Given the description of an element on the screen output the (x, y) to click on. 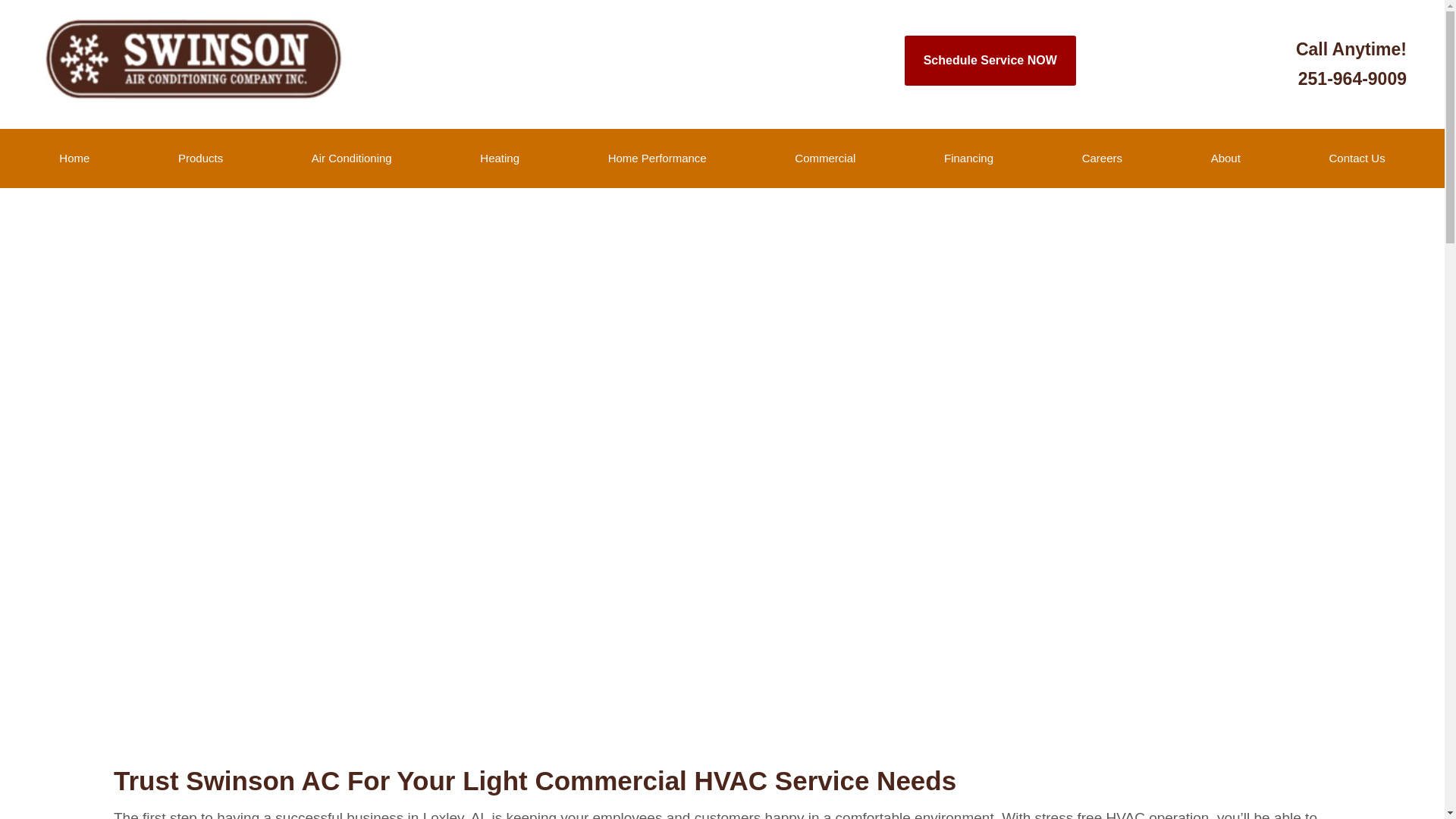
Home (73, 158)
About (1225, 158)
Heating (499, 158)
Air Conditioning (350, 158)
Home Performance (657, 158)
Products (200, 158)
Commercial (825, 158)
Financing (1350, 63)
Careers (968, 158)
